Given the description of an element on the screen output the (x, y) to click on. 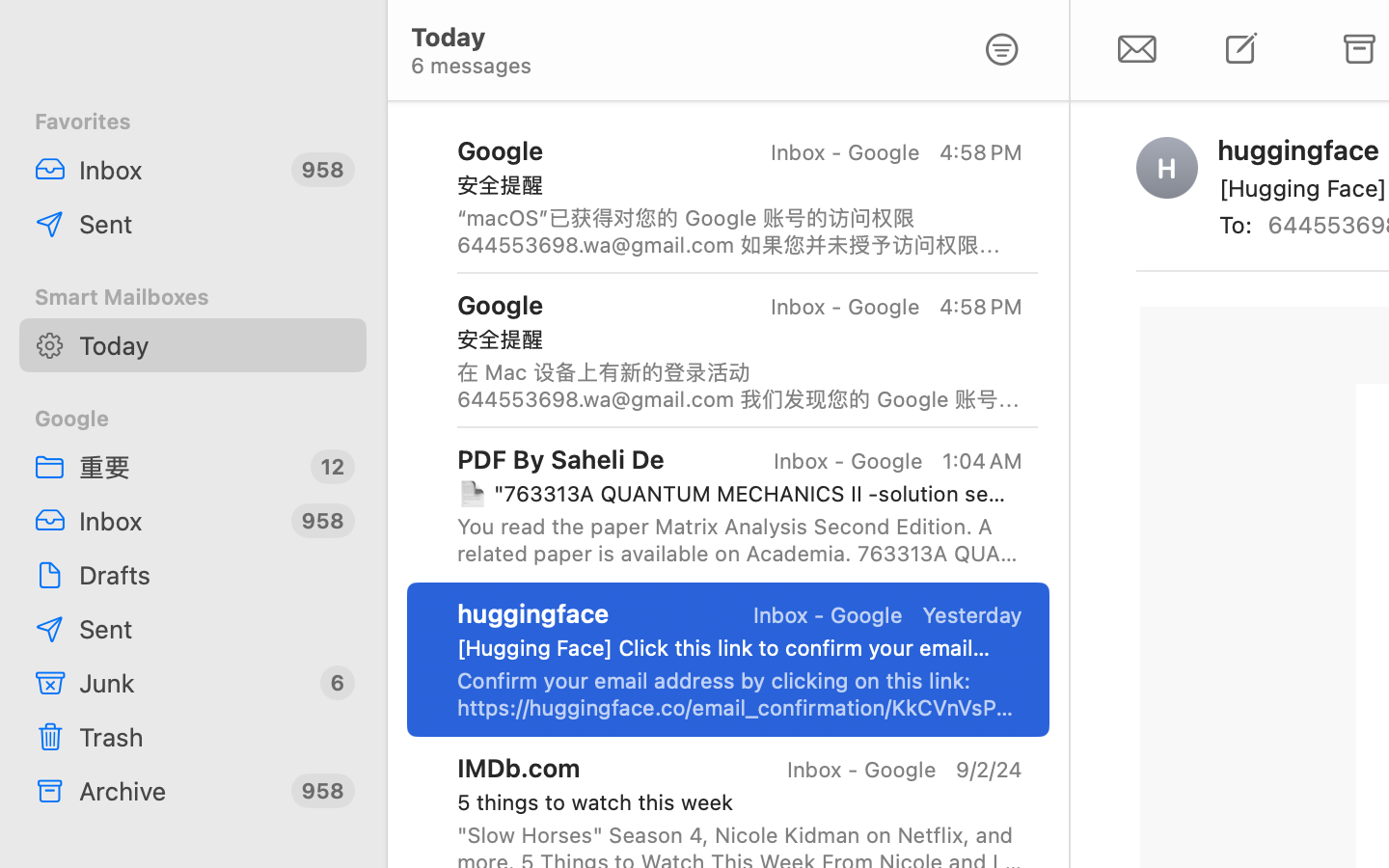
Inbox - Google Element type: AXStaticText (843, 151)
IMDb.com Element type: AXStaticText (518, 767)
重要 Element type: AXTextField (187, 466)
PDF By Saheli De Element type: AXStaticText (561, 458)
Smart Mailboxes Element type: AXStaticText (192, 296)
